Given the description of an element on the screen output the (x, y) to click on. 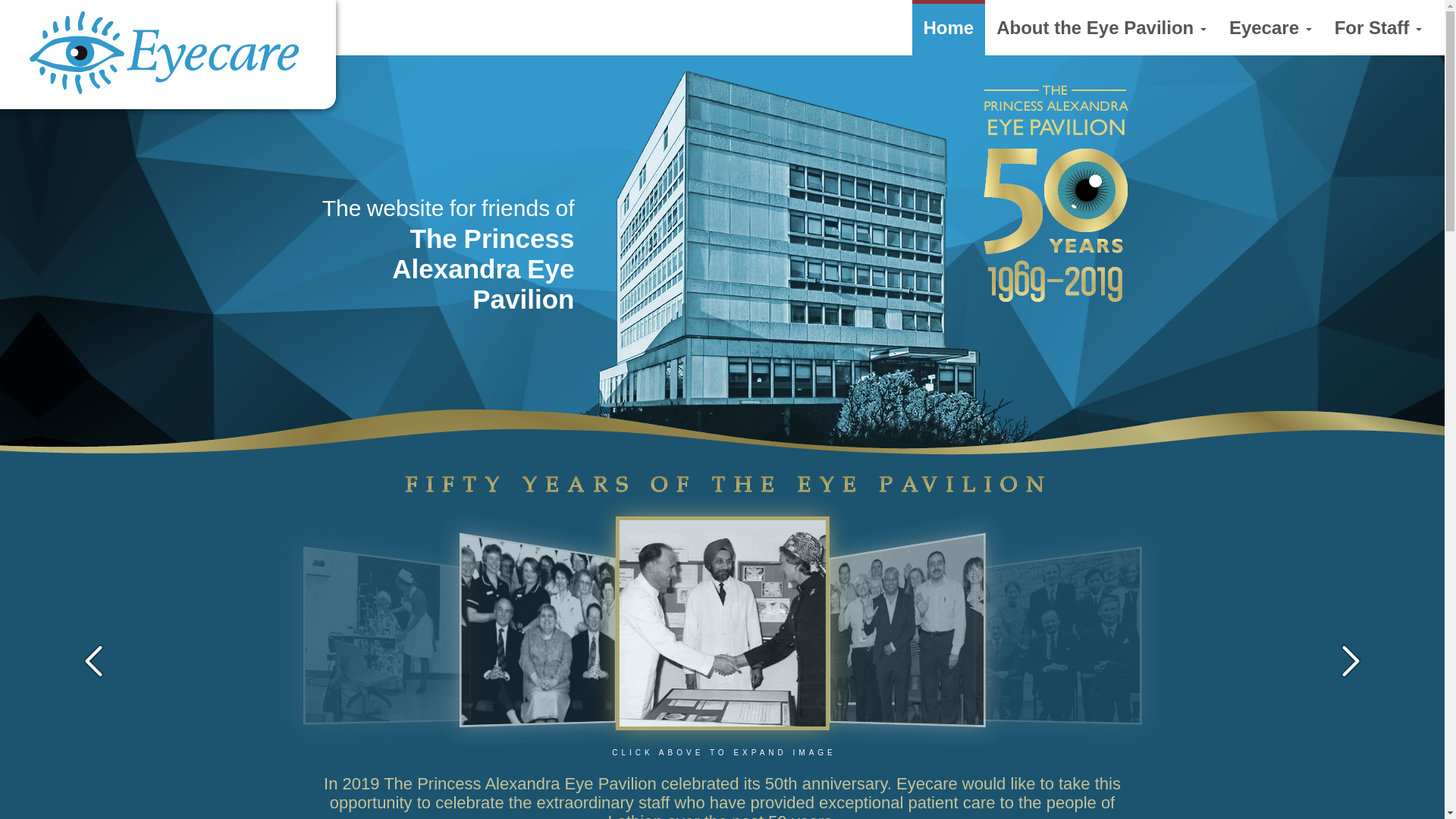
Home (948, 27)
Eyecare (1270, 27)
Eyecare - friends of The Princess Alexandra Eye Pavilion (11, 23)
About the Eye Pavilion (1101, 27)
For Staff (1377, 27)
